Given the description of an element on the screen output the (x, y) to click on. 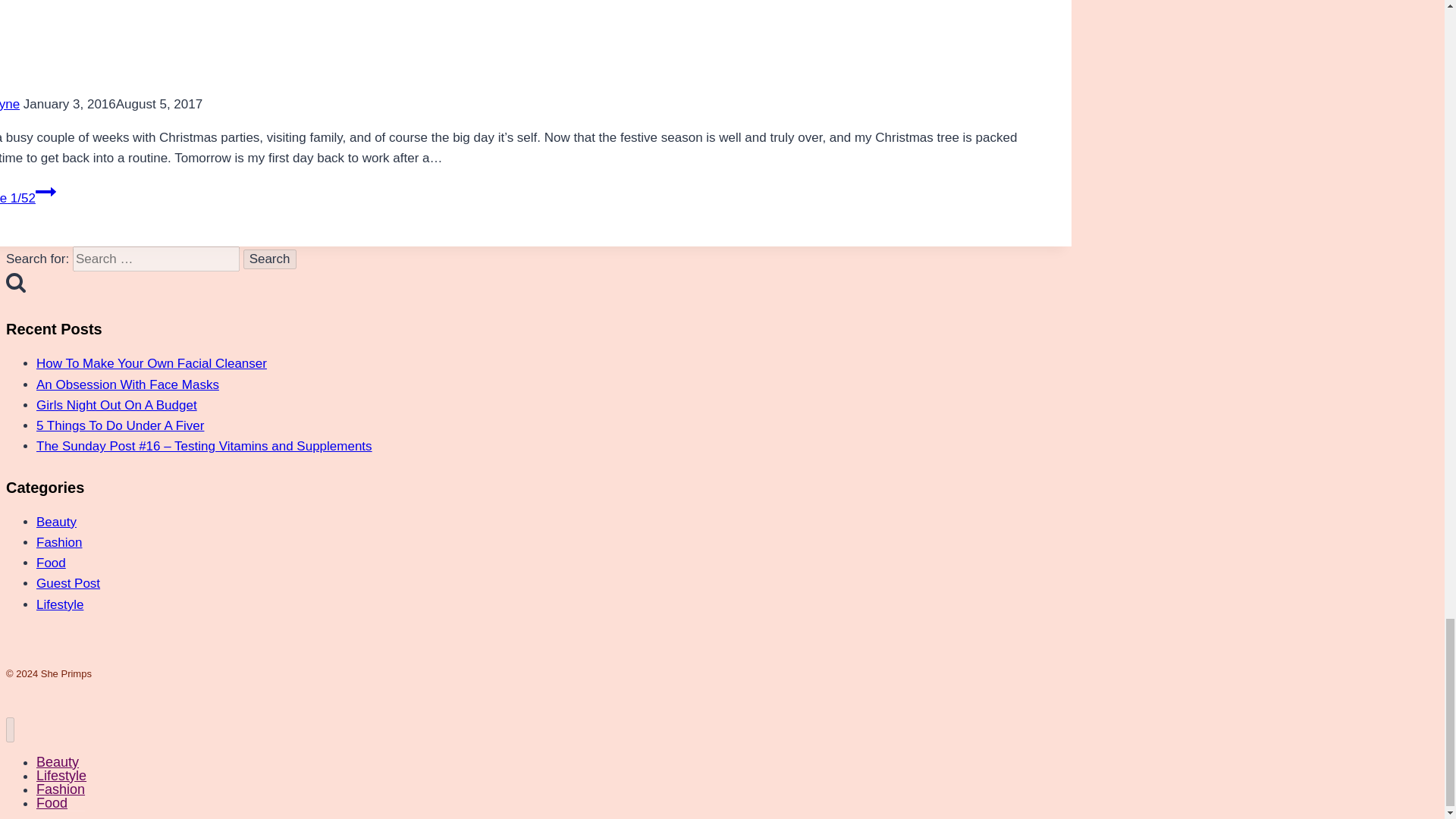
How To Make Your Own Facial Cleanser (151, 363)
Search (270, 259)
An Obsession With Face Masks (127, 384)
Search (270, 259)
Search (270, 259)
Lisa Jayne (10, 104)
Girls Night Out On A Budget (116, 405)
